Given the description of an element on the screen output the (x, y) to click on. 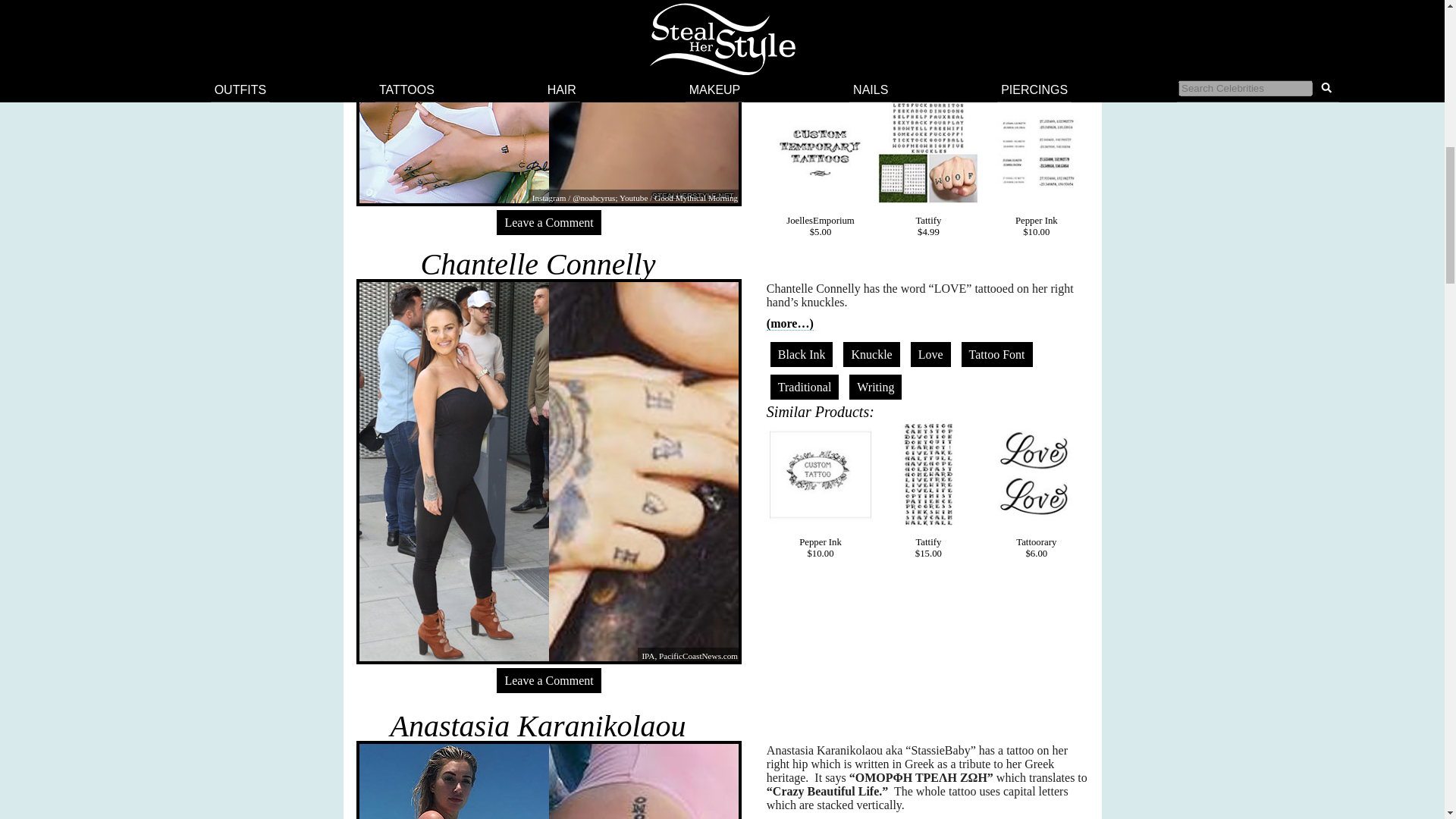
Anastasia Karanikolaou tattoos (537, 725)
Chantelle Connelly tattoos (538, 264)
Tattify TATTIFY 'Optimist' Temporary Tattoos (927, 474)
Pepper Ink custom name tattoo- personalised temporary tattoo (820, 474)
